Given the description of an element on the screen output the (x, y) to click on. 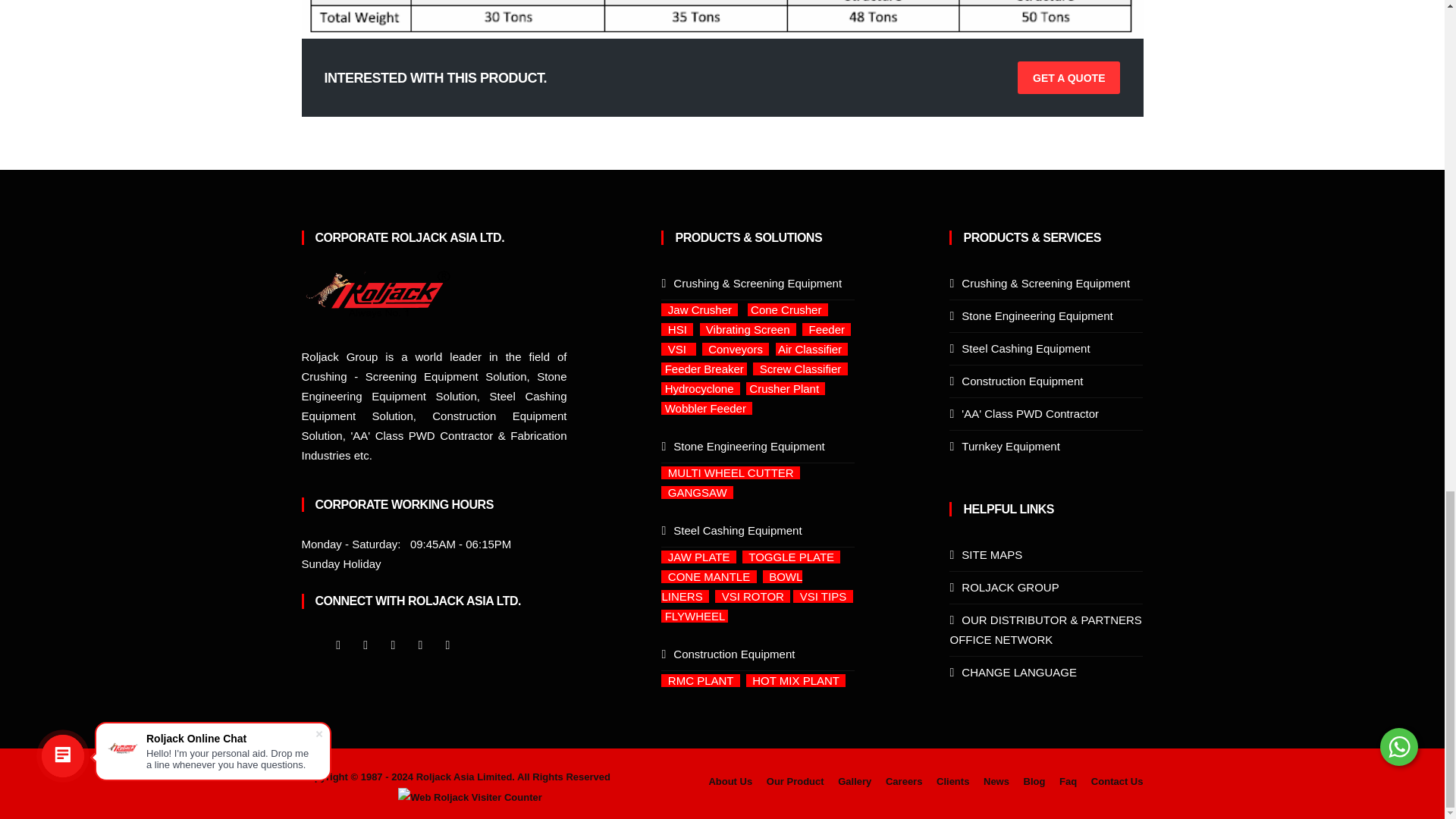
Roljack Asia Limited (469, 797)
Linkedin (392, 645)
